Given the description of an element on the screen output the (x, y) to click on. 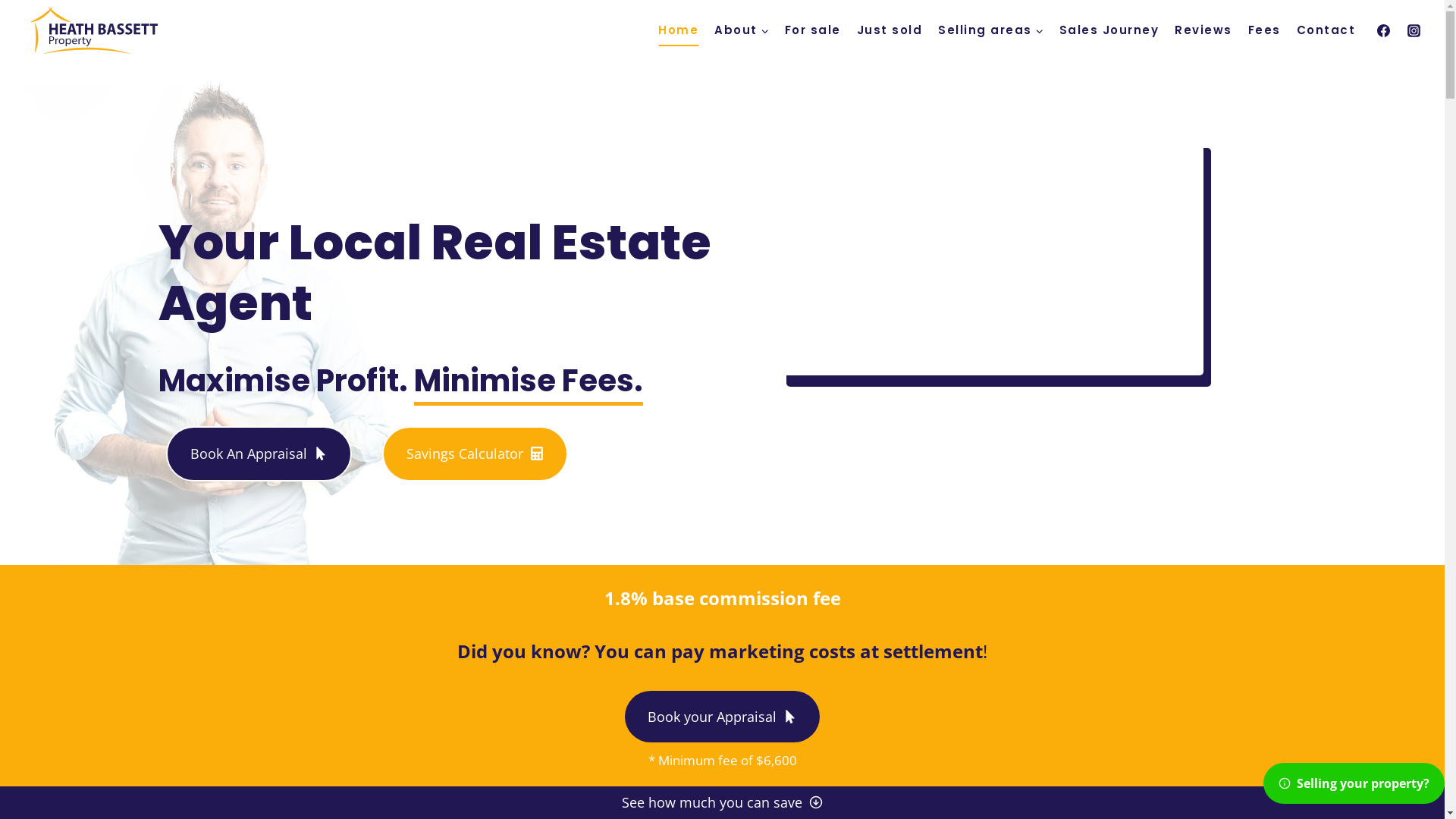
Book An Appraisal Element type: text (258, 453)
Fees Element type: text (1263, 30)
Selling your property? Element type: text (1353, 782)
Home Element type: text (678, 30)
Reviews Element type: text (1203, 30)
For sale Element type: text (812, 30)
YouTube video player Element type: hover (990, 255)
Selling areas Element type: text (990, 30)
Just sold Element type: text (889, 30)
Contact Element type: text (1325, 30)
Book your Appraisal Element type: text (721, 716)
Sales Journey Element type: text (1109, 30)
About Element type: text (741, 30)
Savings Calculator Element type: text (474, 453)
